Given the description of an element on the screen output the (x, y) to click on. 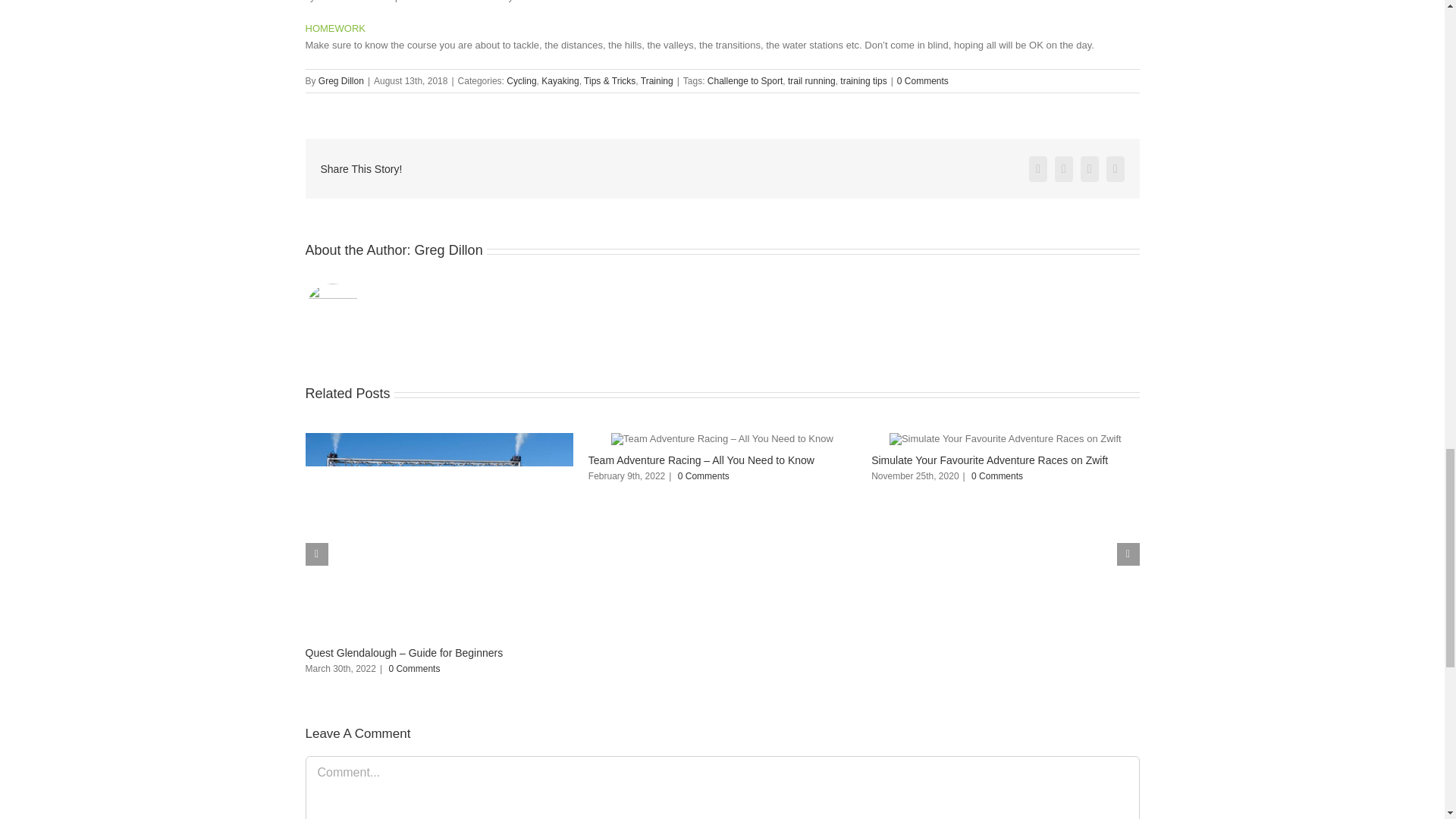
Posts by Greg Dillon (448, 249)
Simulate Your Favourite Adventure Races on Zwift (989, 460)
Posts by Greg Dillon (341, 81)
